Given the description of an element on the screen output the (x, y) to click on. 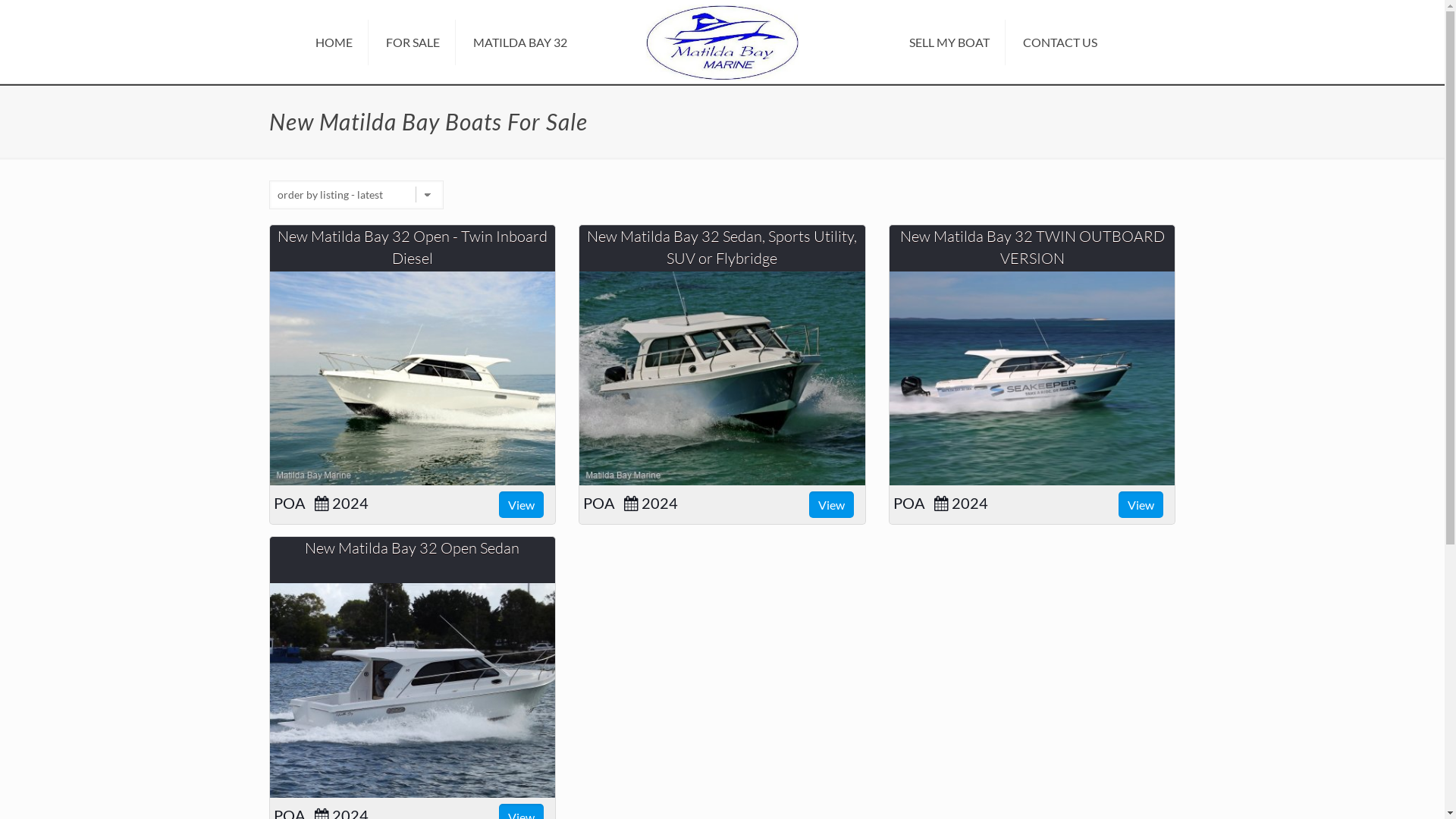
MATILDA BAY 32 Element type: text (520, 42)
FOR SALE Element type: text (412, 42)
New Matilda Bay 32 Sedan, Sports Utility, SUV or Flybridge Element type: text (721, 246)
New Matilda Bay 32 Sedan, Sports Utility, SUV or Flybridge Element type: hover (722, 378)
SELL MY BOAT Element type: text (949, 42)
New Matilda Bay 32 Open Sedan Element type: hover (412, 690)
New Matilda Bay 32 Open Sedan Element type: text (411, 547)
CONTACT US Element type: text (1059, 42)
Matilda Bay Marine Boat Brokers Element type: hover (722, 40)
New Matilda Bay 32 Open - Twin Inboard Diesel Element type: text (412, 246)
New Matilda Bay 32 TWIN OUTBOARD VERSION Element type: hover (1032, 378)
HOME Element type: text (334, 42)
View Element type: text (1140, 504)
View Element type: text (520, 504)
New Matilda Bay 32 TWIN OUTBOARD VERSION Element type: text (1032, 246)
New Matilda Bay 32 Open - Twin Inboard Diesel Element type: hover (412, 378)
View Element type: text (831, 504)
